Given the description of an element on the screen output the (x, y) to click on. 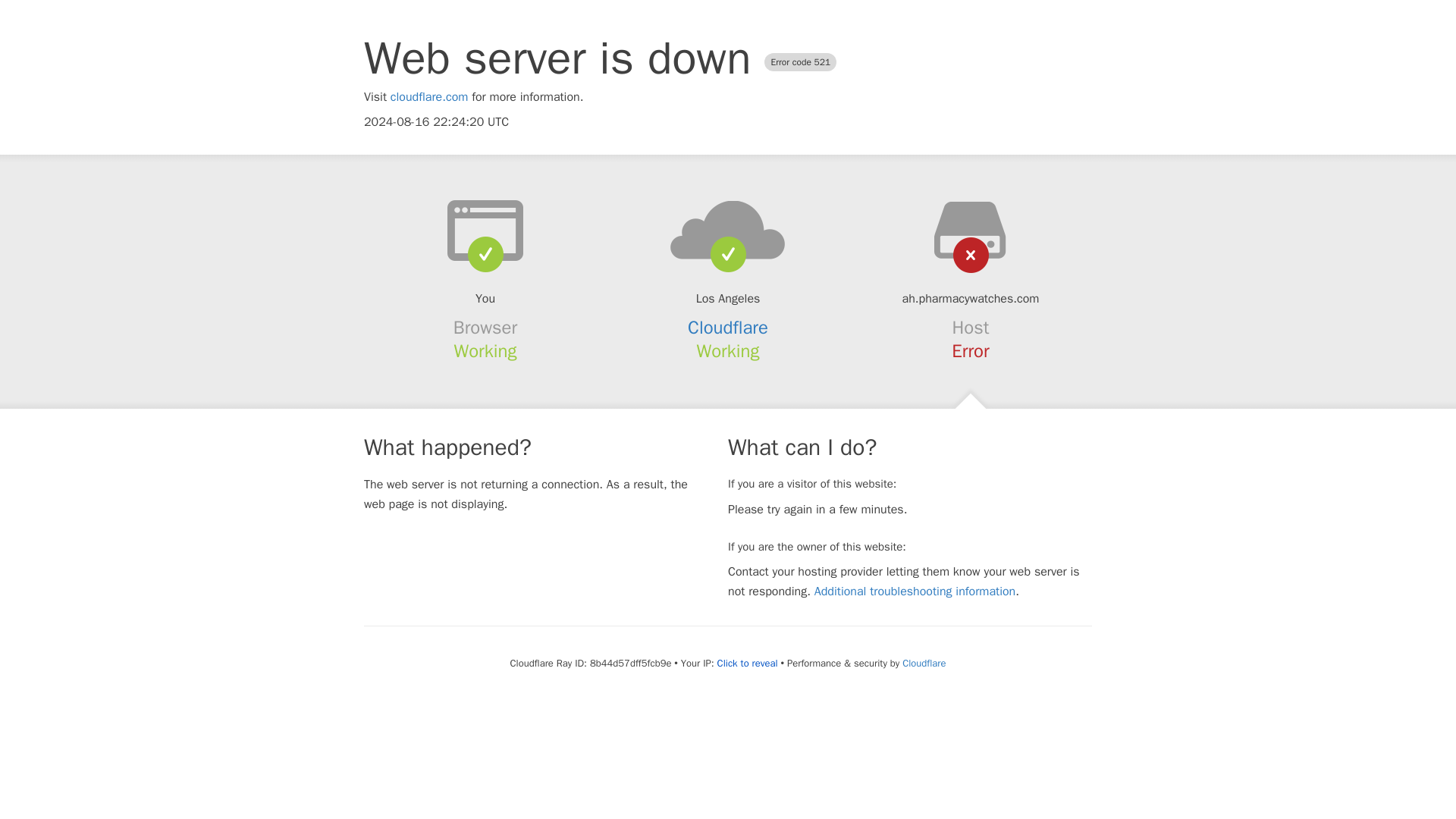
Click to reveal (747, 663)
Additional troubleshooting information (913, 590)
Cloudflare (727, 327)
Cloudflare (923, 662)
cloudflare.com (429, 96)
